Given the description of an element on the screen output the (x, y) to click on. 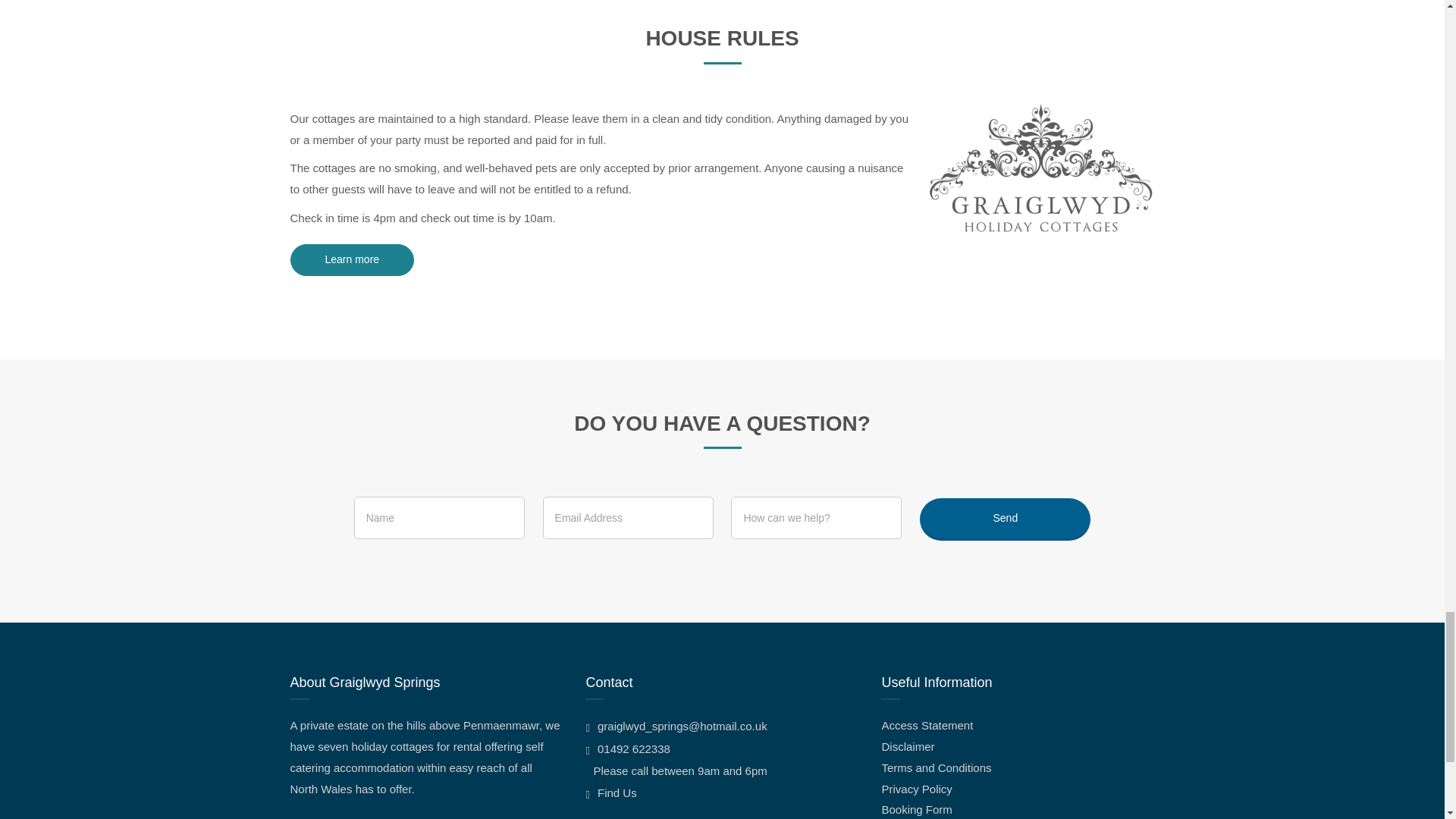
Learn more (351, 260)
Booking Form (916, 809)
Disclaimer (907, 746)
Terms and Conditions (935, 767)
Access Statement (926, 725)
01492 622338 (627, 748)
Privacy Policy (916, 788)
Find Us (610, 792)
Send (1005, 518)
Send (1005, 518)
